Given the description of an element on the screen output the (x, y) to click on. 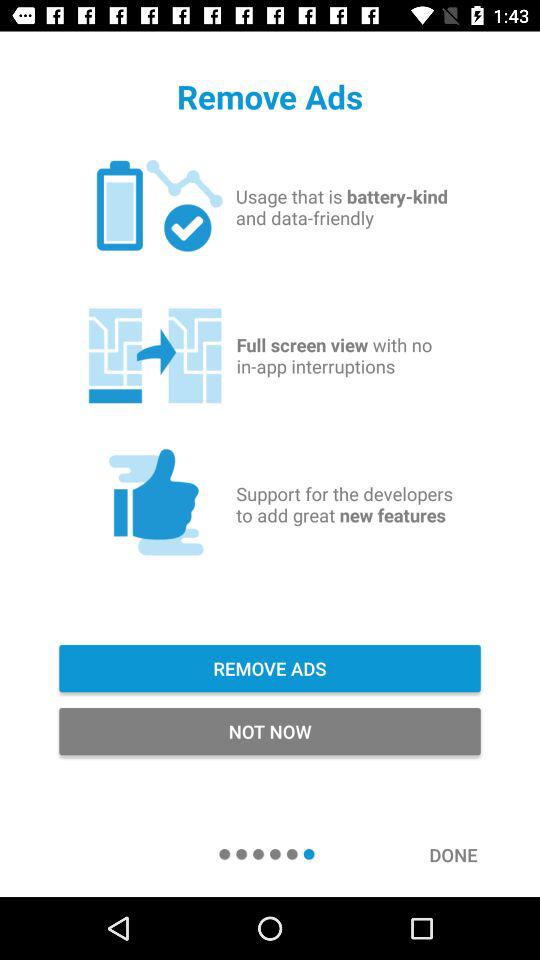
launch the done at the bottom right corner (463, 854)
